Given the description of an element on the screen output the (x, y) to click on. 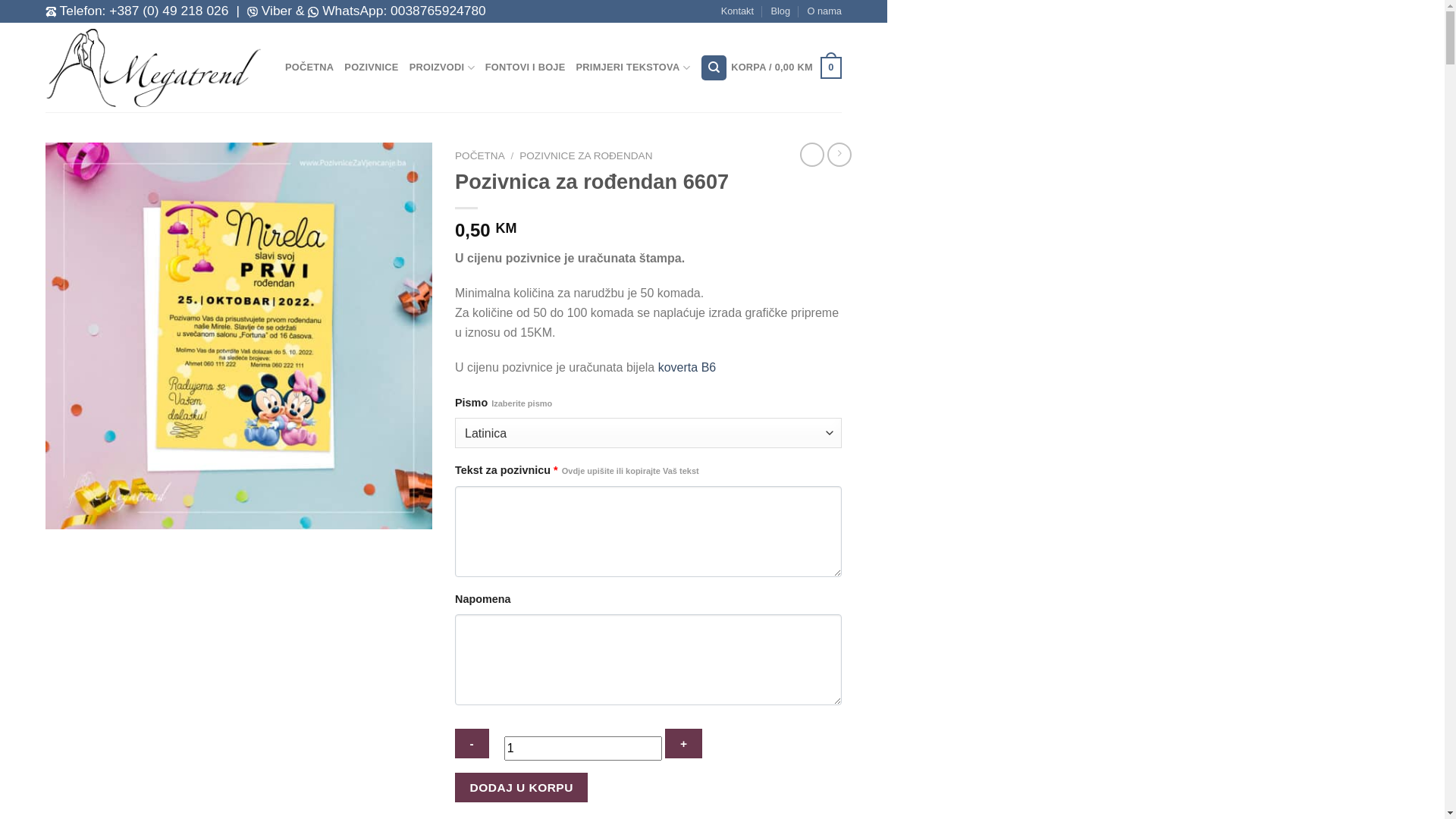
POZIVNICE Element type: text (371, 67)
PROIZVODI Element type: text (441, 67)
0038765924780 Element type: text (438, 10)
FONTOVI I BOJE Element type: text (525, 67)
PRIMJERI TEKSTOVA Element type: text (633, 67)
+387 (0) 49 218 026 Element type: text (168, 10)
DODAJ U KORPU Element type: text (521, 787)
O nama Element type: text (823, 11)
Blog Element type: text (780, 11)
KORPA / 0,00 KM
0 Element type: text (786, 68)
koverta B6 Element type: text (686, 366)
Kontakt Element type: text (737, 11)
